Given the description of an element on the screen output the (x, y) to click on. 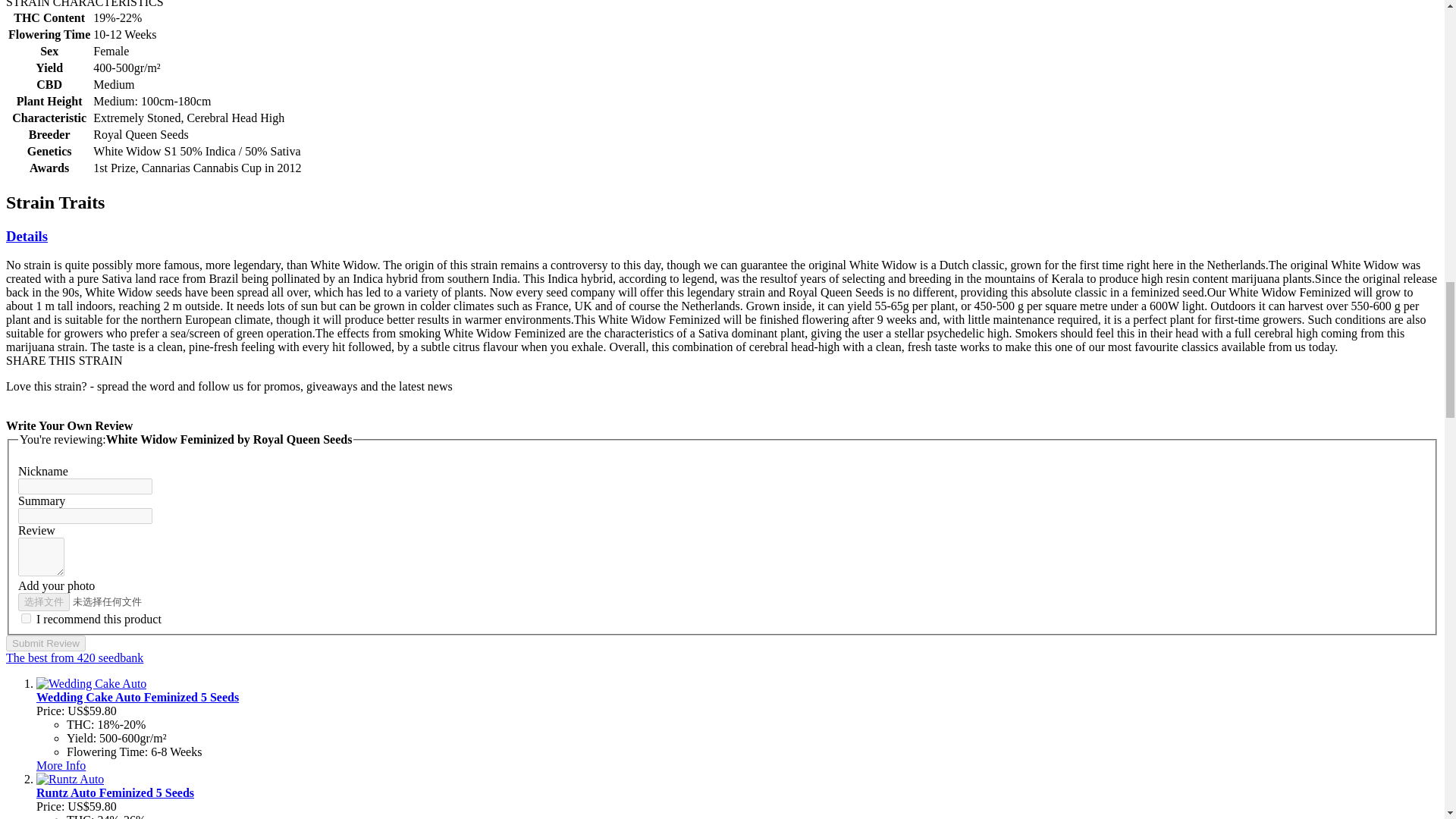
1 (25, 618)
Wedding Cake Auto Feminized 5 Seeds (137, 697)
Add your photo (113, 601)
Runtz Auto Feminized 5 Seeds (114, 792)
